Given the description of an element on the screen output the (x, y) to click on. 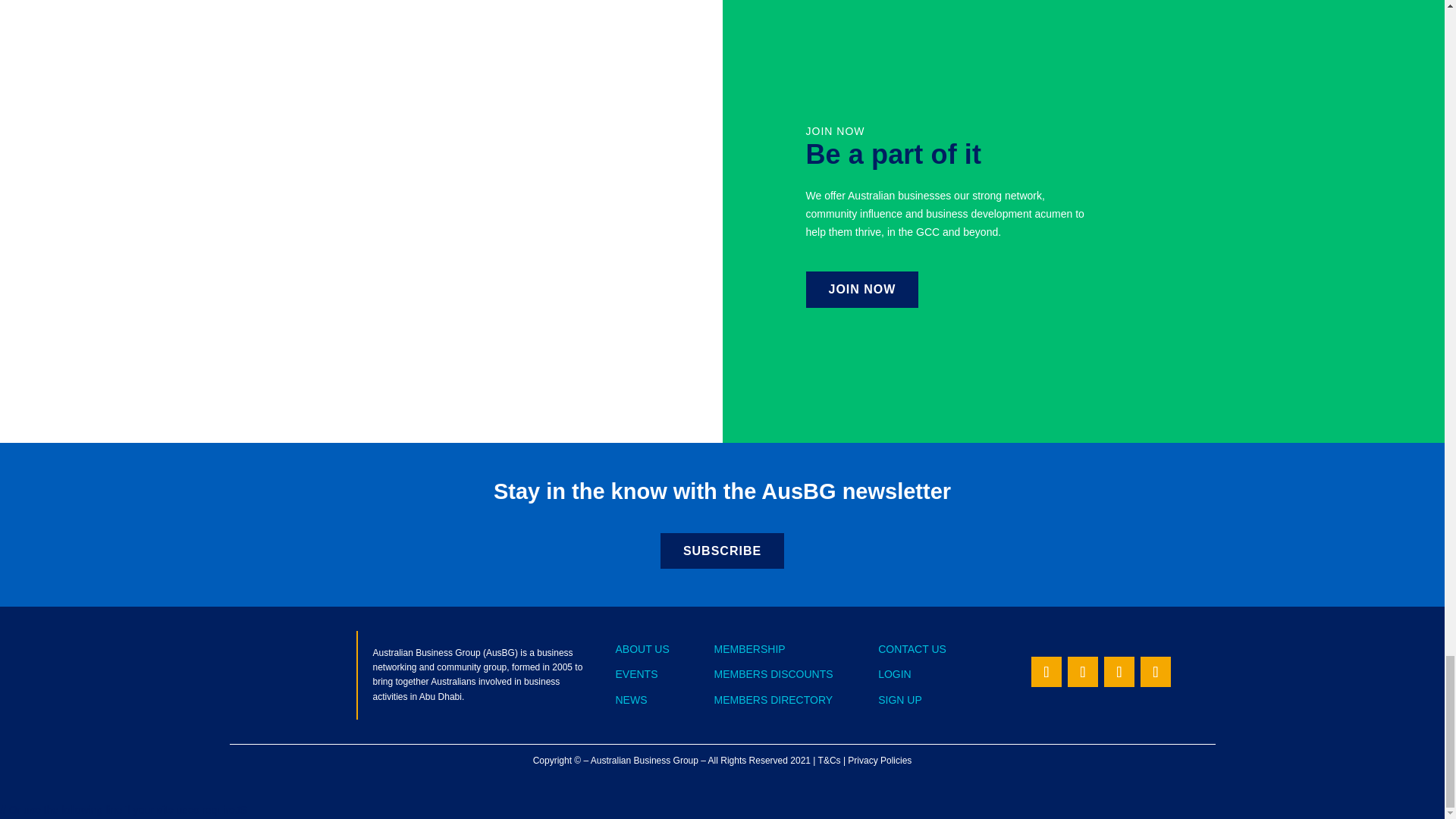
Follow on Twitter (1045, 671)
Follow on Facebook (1155, 671)
Follow on Instagram (1082, 671)
Follow on LinkedIn (1118, 671)
